Given the description of an element on the screen output the (x, y) to click on. 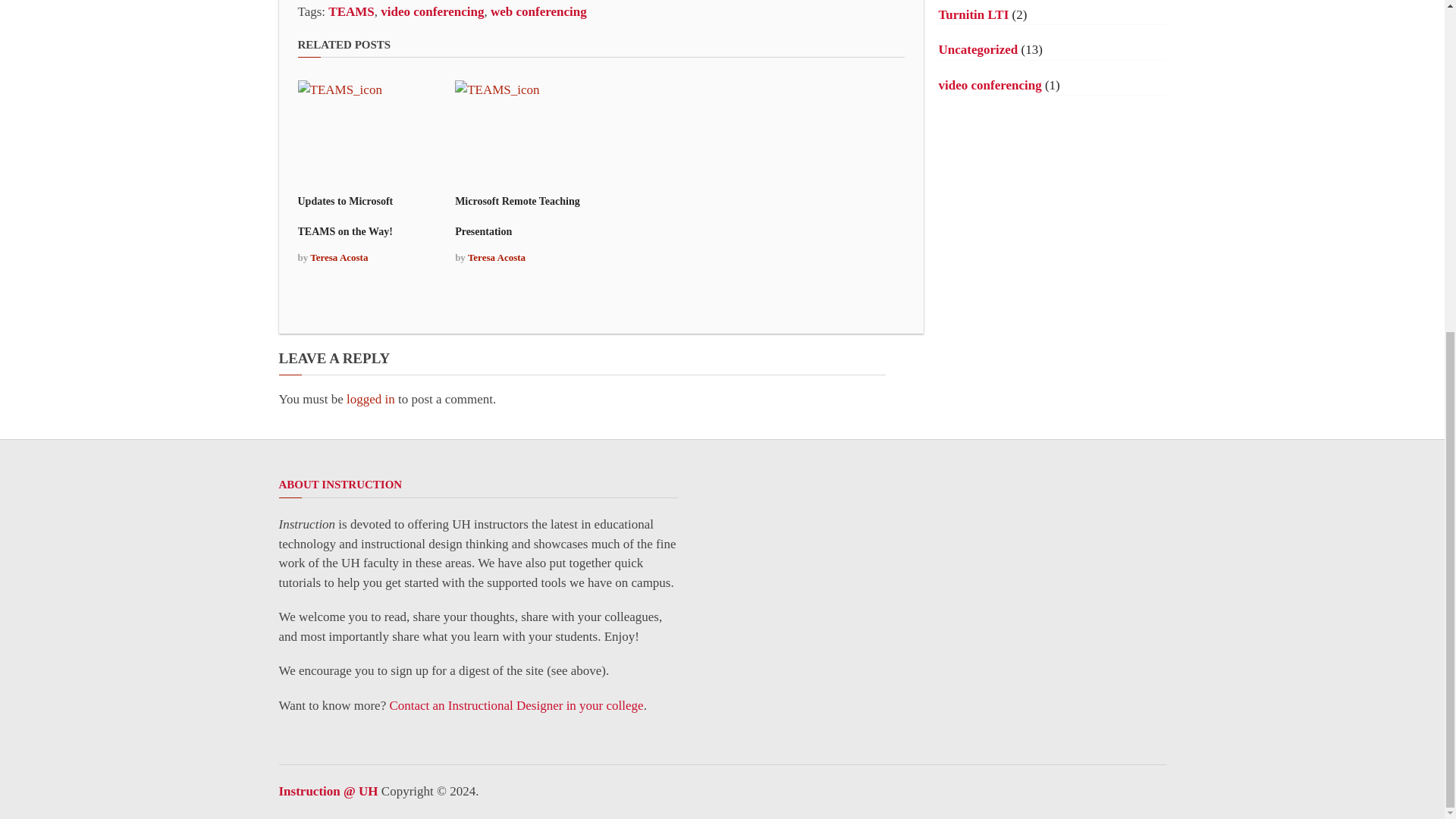
Microsoft Remote Teaching Presentation (516, 215)
Updates to Microsoft TEAMS on the Way! (345, 215)
Teresa Acosta (496, 256)
Posts by Teresa Acosta (339, 256)
video conferencing (431, 11)
logged in (370, 399)
Updates to Microsoft TEAMS on the Way! (345, 215)
web conferencing (538, 11)
Teresa Acosta (339, 256)
